Given the description of an element on the screen output the (x, y) to click on. 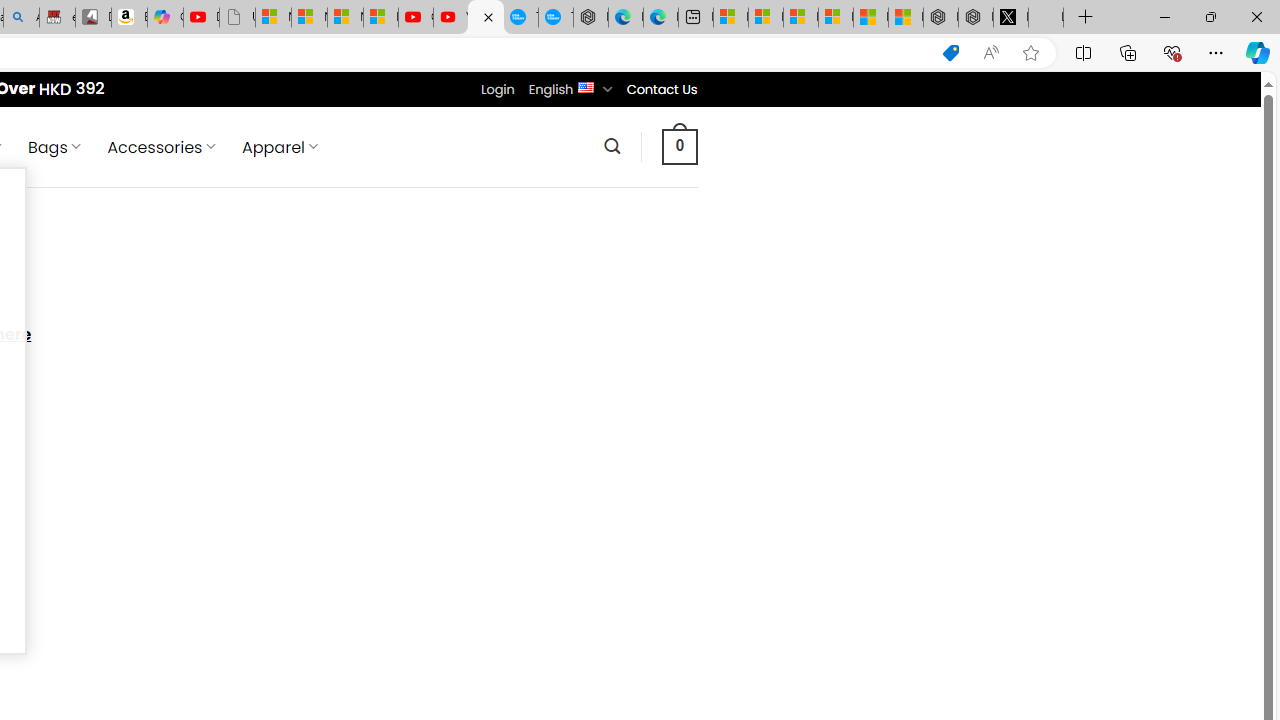
Copilot (165, 17)
Microsoft account | Microsoft Account Privacy Settings (765, 17)
Day 1: Arriving in Yemen (surreal to be here) - YouTube (201, 17)
